Given the description of an element on the screen output the (x, y) to click on. 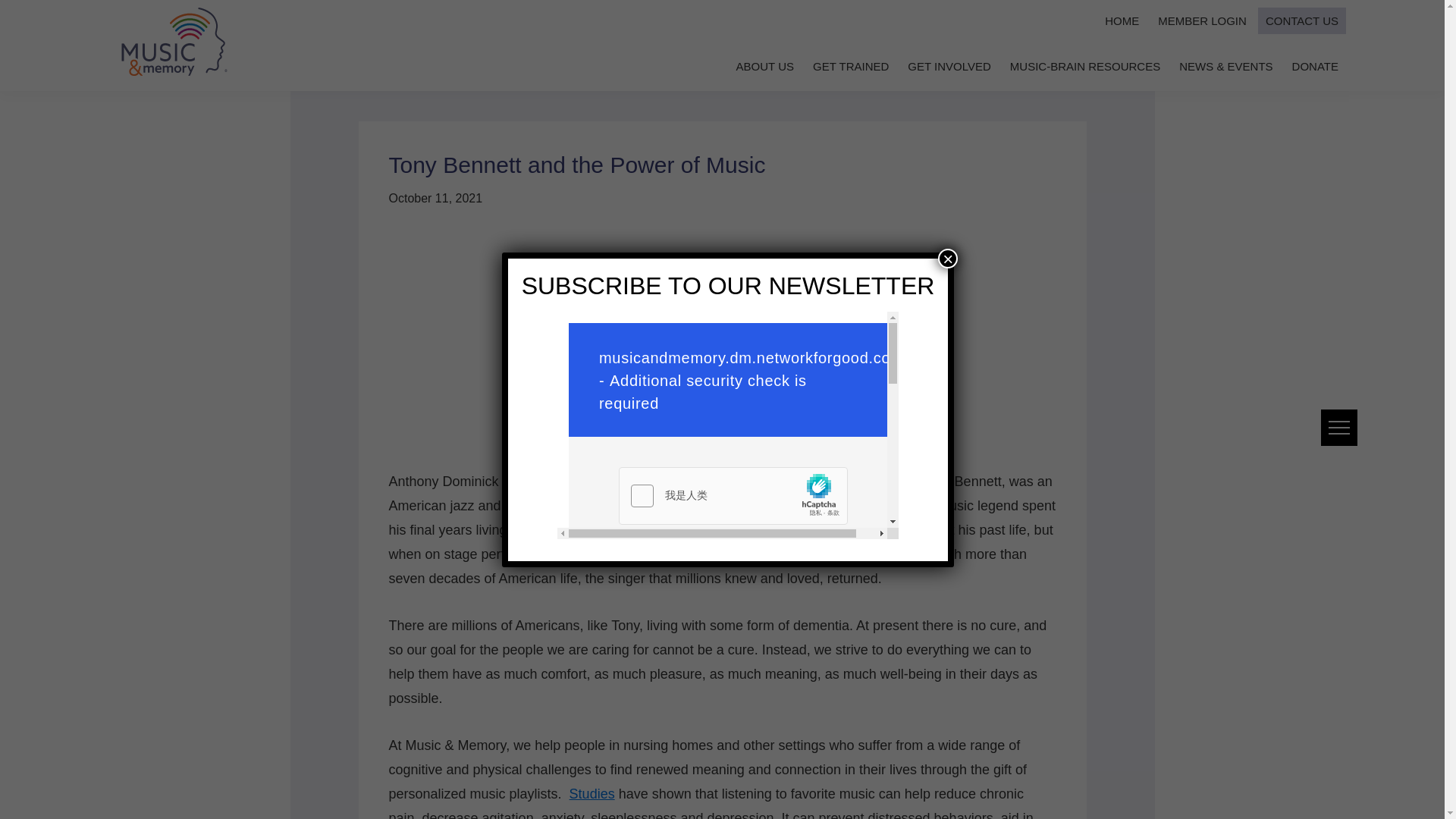
MEMBER LOGIN (1201, 20)
HOME (1122, 20)
Search (40, 19)
CONTACT US (1301, 20)
ABOUT US (765, 66)
